Given the description of an element on the screen output the (x, y) to click on. 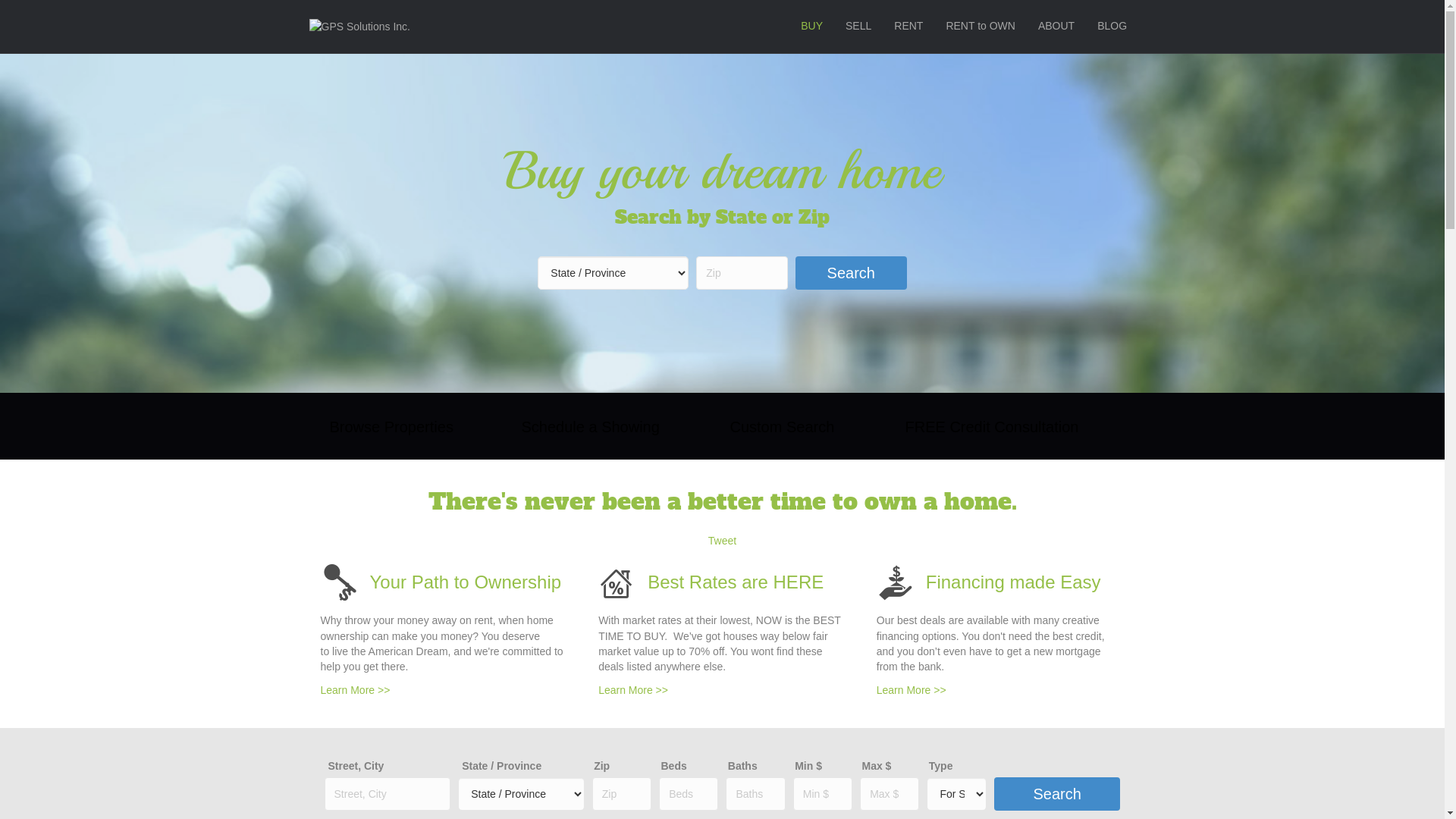
Learn More >> Element type: text (354, 690)
Learn More >> Element type: text (633, 690)
FREE Credit Consultation Element type: text (989, 425)
Tweet Element type: text (722, 540)
Browse Properties Element type: text (387, 425)
BUY Element type: text (811, 26)
RENT Element type: text (908, 26)
Financing made Easy Element type: text (1013, 581)
ABOUT Element type: text (1055, 26)
Custom Search Element type: text (778, 425)
Best Rates are HERE Element type: text (735, 581)
Schedule a Showing Element type: text (587, 425)
Search Element type: text (850, 272)
Search Element type: text (1057, 793)
BLOG Element type: text (1111, 26)
RENT to OWN Element type: text (980, 26)
Learn More >> Element type: text (911, 690)
SELL Element type: text (858, 26)
Your Path to Ownership Element type: text (465, 581)
